Given the description of an element on the screen output the (x, y) to click on. 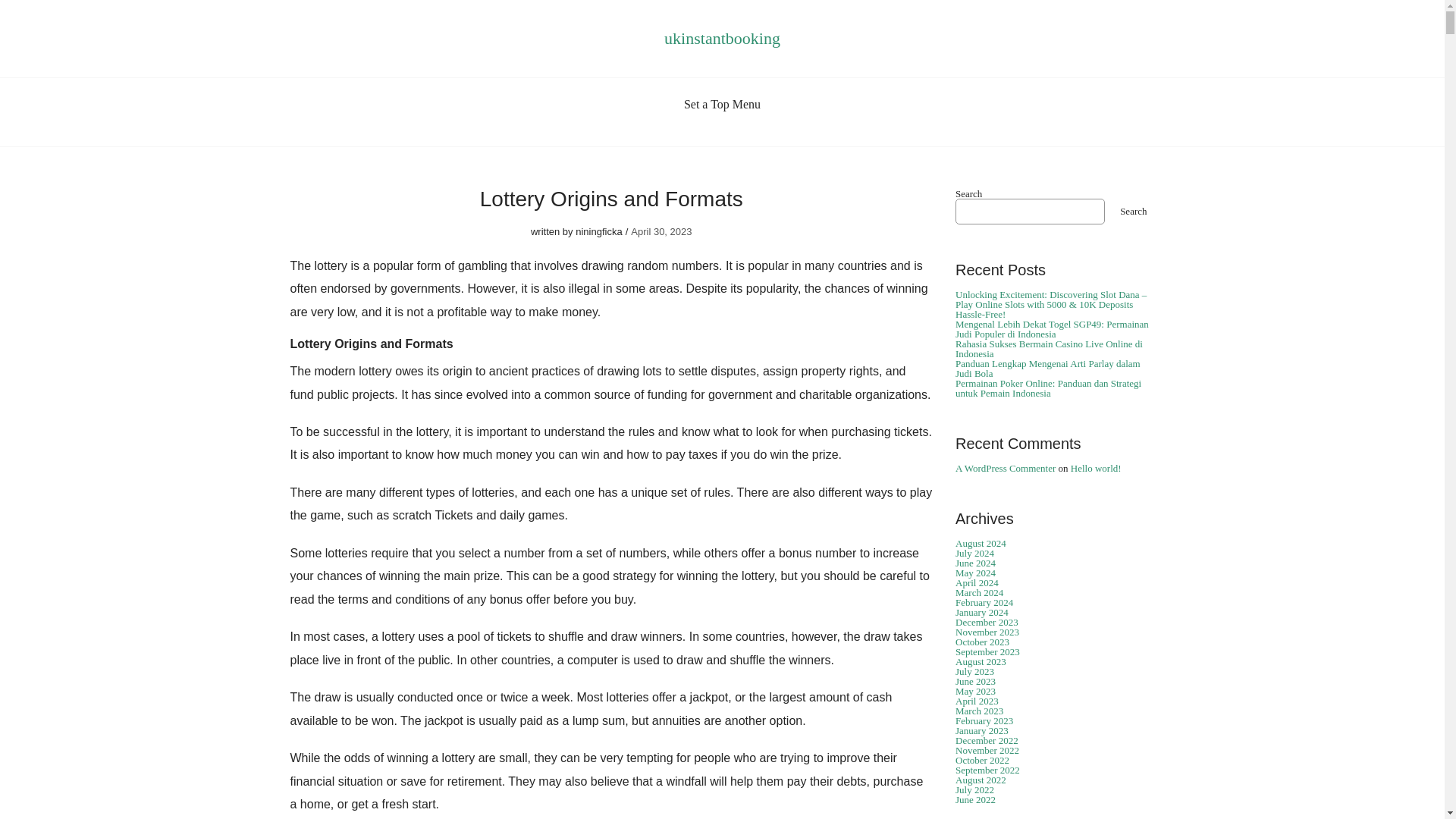
ukinstantbooking (721, 38)
niningficka (598, 231)
Lottery Origins and Formats (611, 198)
April 30, 2023 (660, 231)
ukinstantbooking (721, 38)
